Given the description of an element on the screen output the (x, y) to click on. 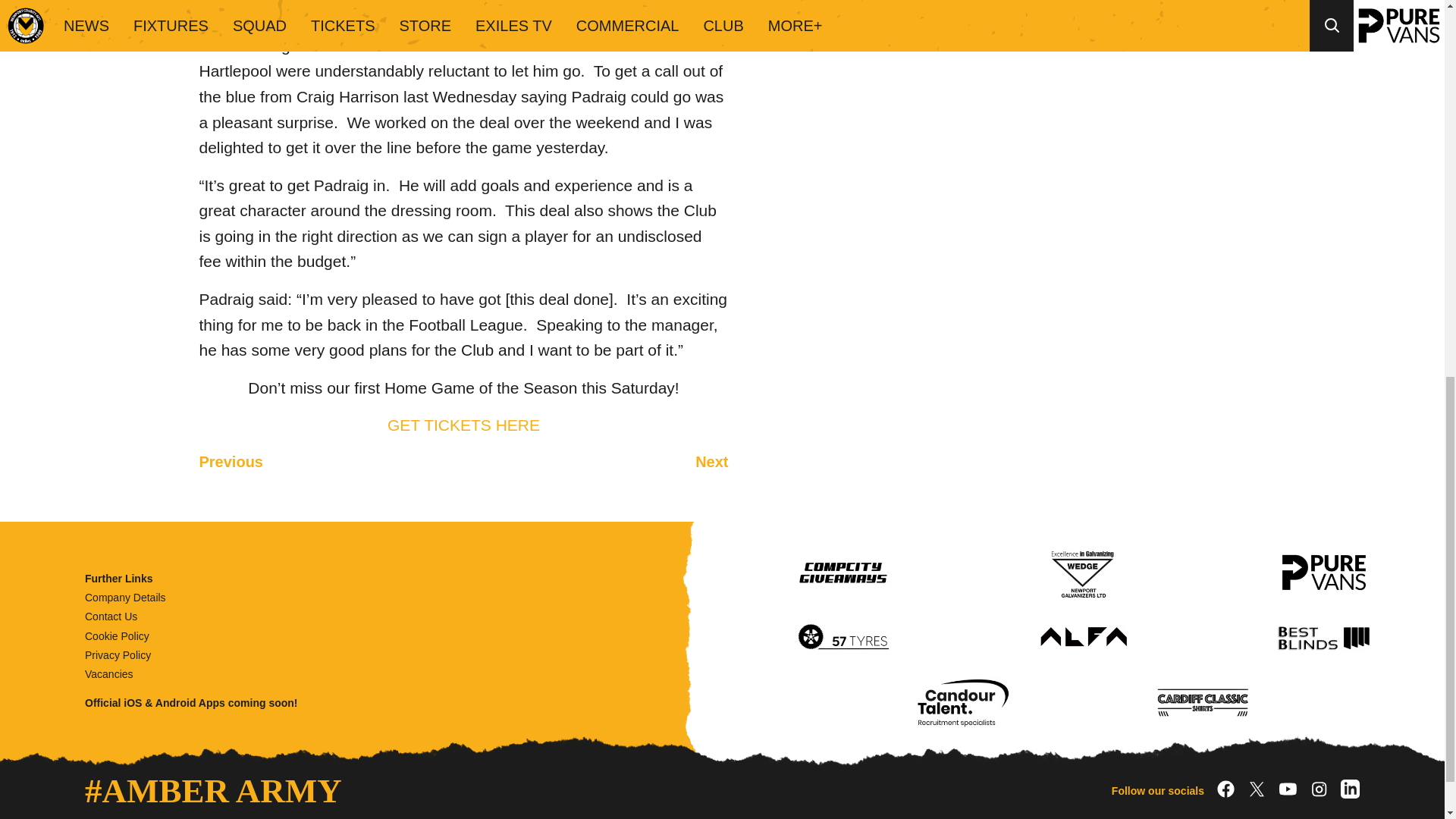
Best Blinds (1323, 637)
57 Tyres (842, 637)
Candour Talent (962, 702)
Cardiff Classic Shirts (1203, 702)
Alfa Staff (1083, 637)
Newport Galvanizers (1083, 572)
Pure Vans (1323, 572)
X Icon (1256, 788)
CompCity Giveaways (842, 572)
